Given the description of an element on the screen output the (x, y) to click on. 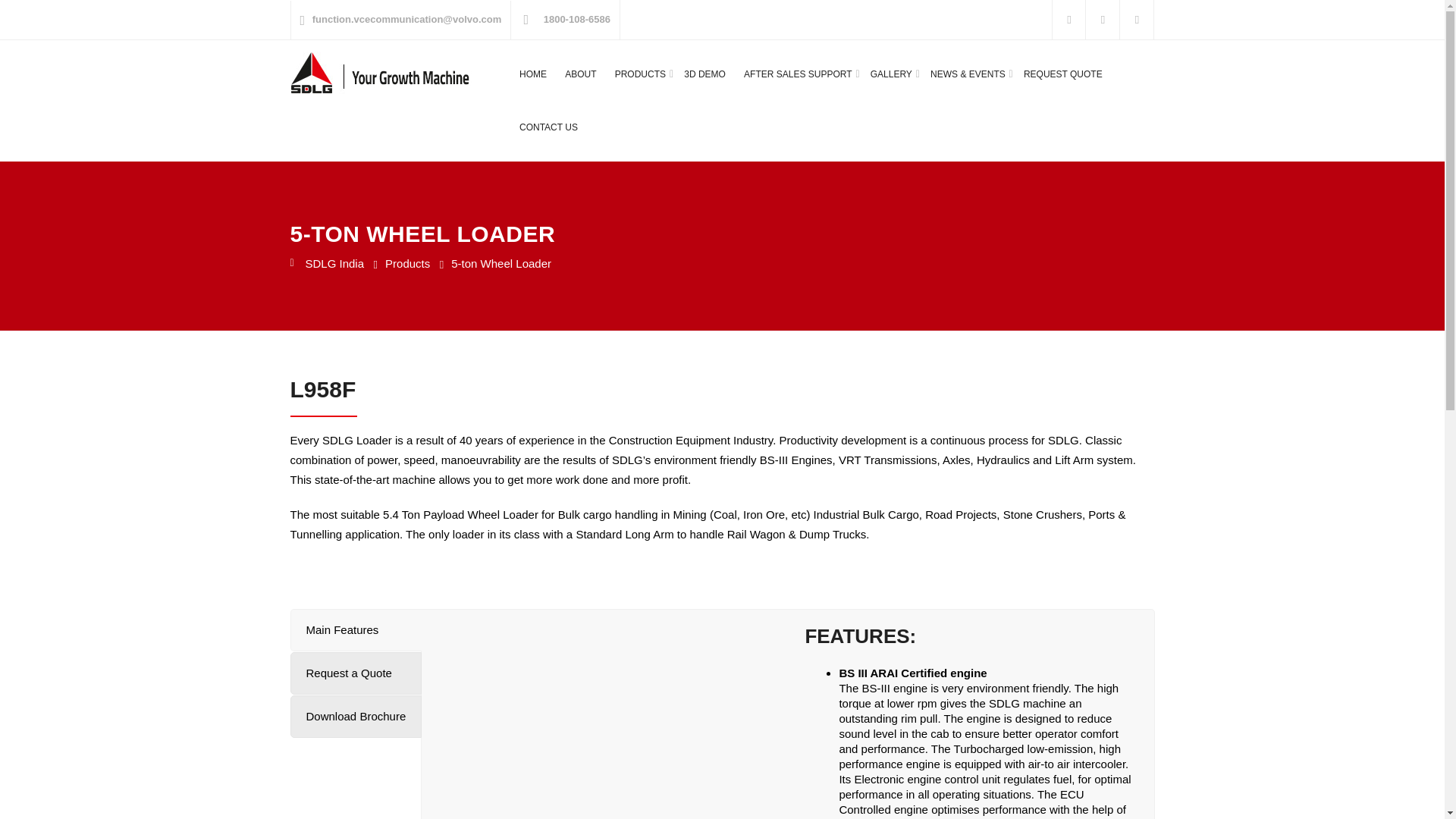
CONTACT US (548, 126)
GALLERY (891, 73)
HOME (533, 73)
3D DEMO (704, 73)
ABOUT (579, 73)
1800-108-6586 (576, 19)
Go to Products. (407, 263)
Go to SDLG India. (326, 263)
REQUEST QUOTE (1062, 73)
AFTER SALES SUPPORT (797, 73)
PRODUCTS (639, 73)
